Given the description of an element on the screen output the (x, y) to click on. 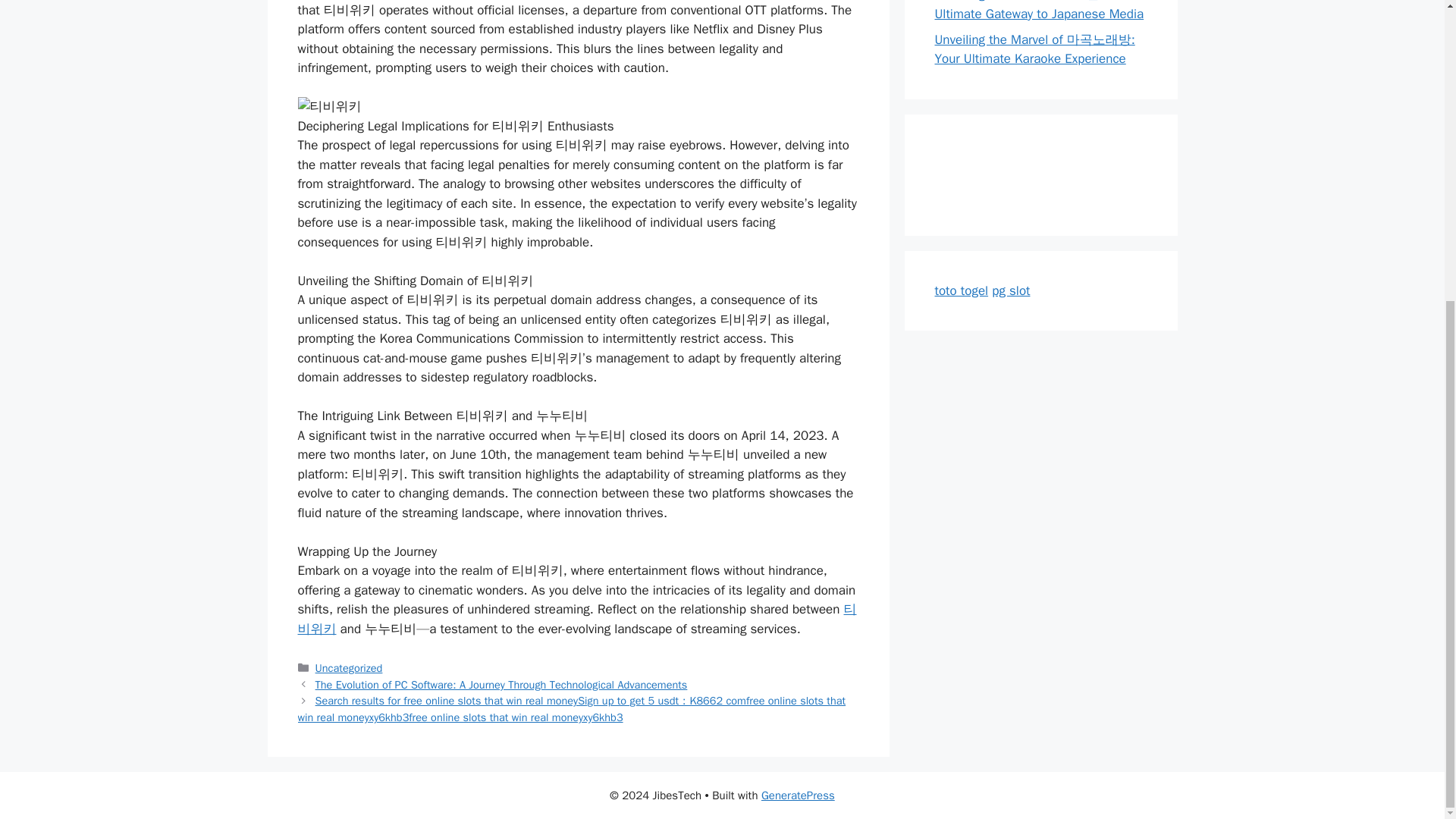
GeneratePress (797, 795)
toto togel (961, 290)
Uncategorized (348, 667)
pg slot (1010, 290)
